Given the description of an element on the screen output the (x, y) to click on. 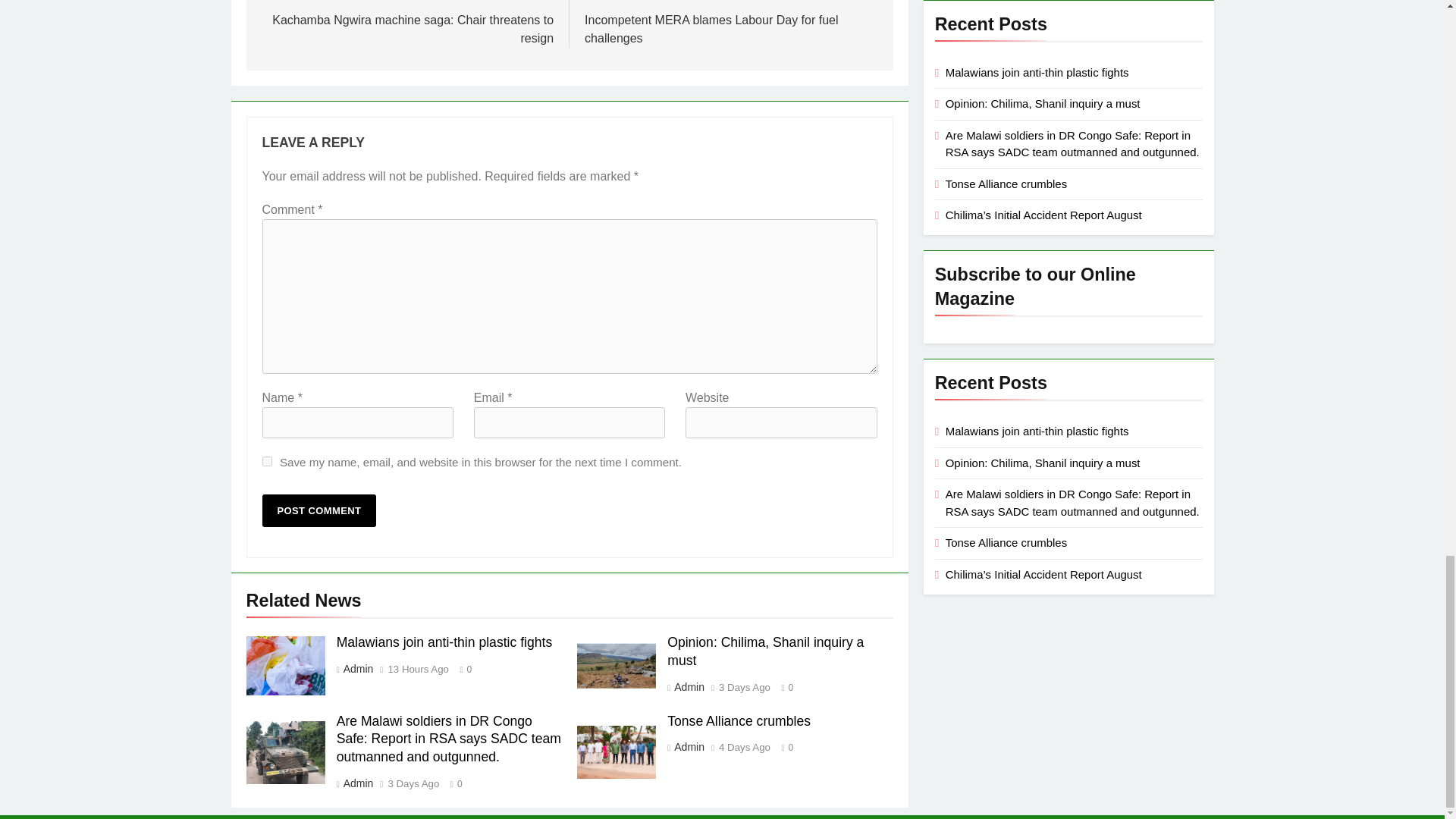
yes (267, 461)
Post Comment (319, 510)
